Given the description of an element on the screen output the (x, y) to click on. 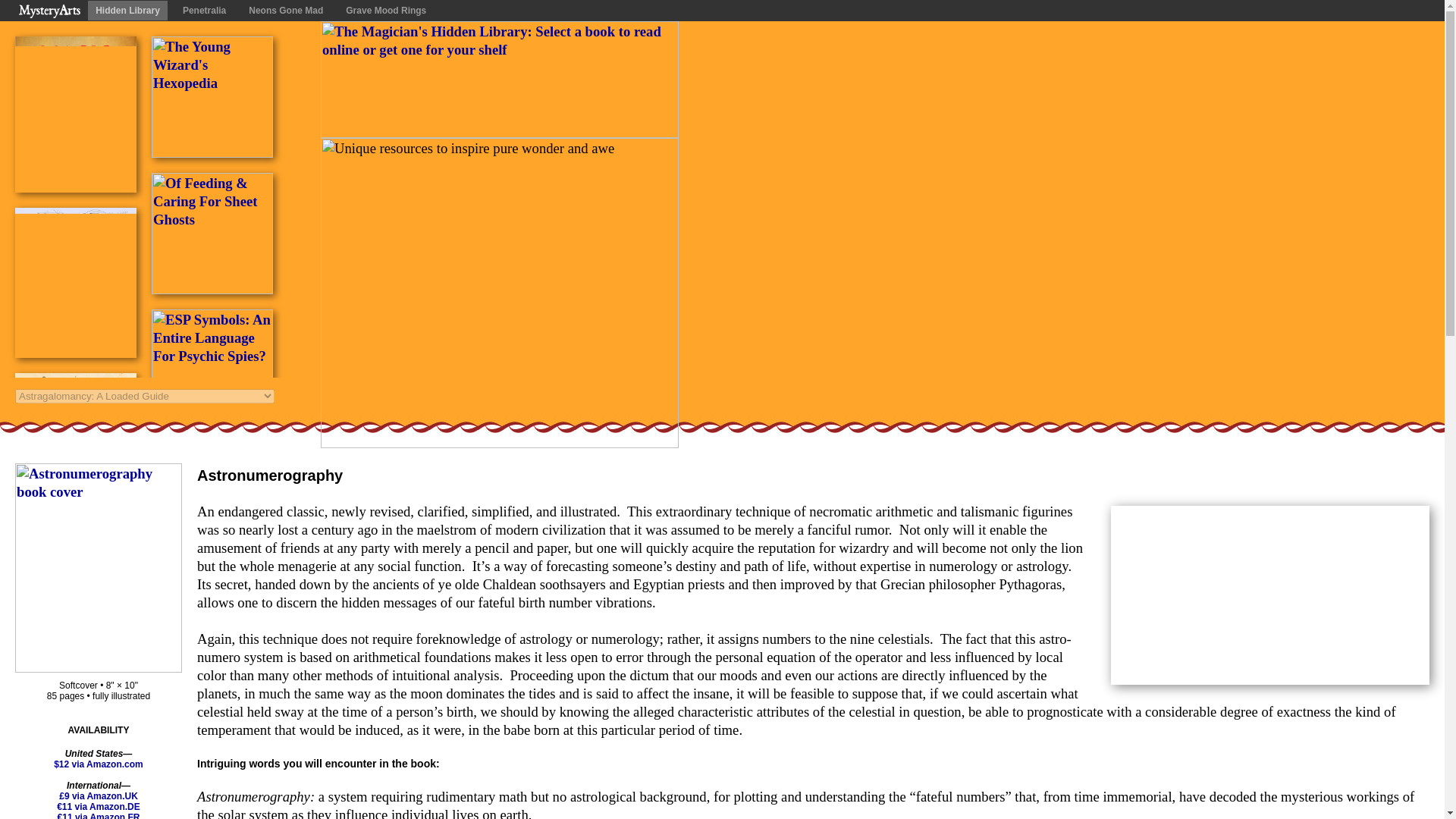
Grave Mood Rings (385, 10)
Neons Gone Mad (285, 10)
Nostradamus Predicted Your Next Diet (212, 698)
The Pencil Witch (75, 751)
ESP Symbols: An Entire Language For Psychic Spies? (212, 425)
Upmanship Tricks: Secrets of One-Upping Magicians (75, 553)
Penetralia (203, 10)
Of Drinking in Remembrance of the Dead (212, 562)
Astronumerography (75, 351)
The Young Wizard's Hexopedia (212, 152)
Magic Words: A Dictionary (75, 187)
Hidden Library (127, 10)
